Given the description of an element on the screen output the (x, y) to click on. 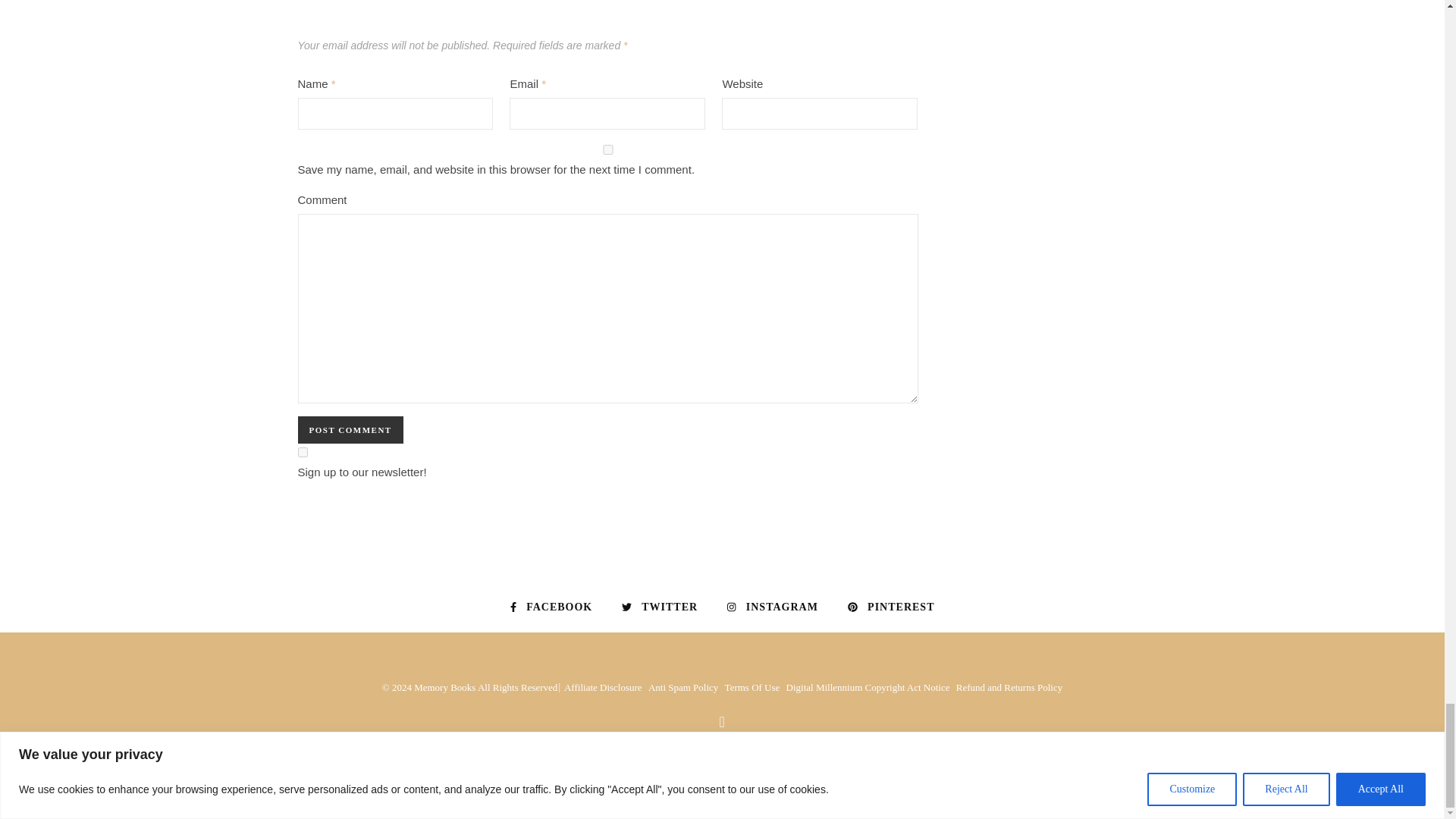
Post Comment (350, 429)
1 (302, 452)
yes (607, 149)
BACK TO TOP (722, 728)
